Given the description of an element on the screen output the (x, y) to click on. 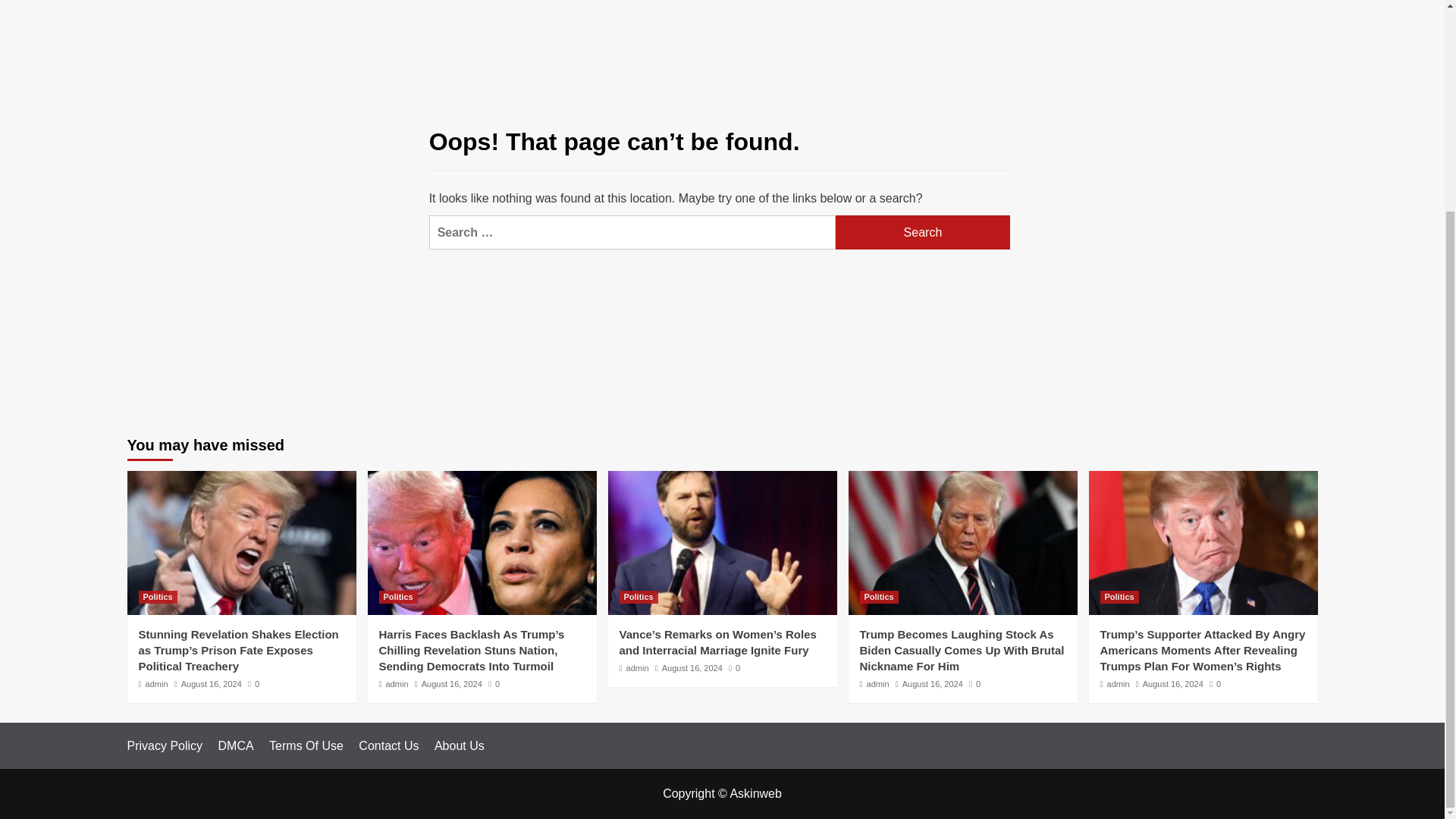
August 16, 2024 (932, 683)
Politics (397, 596)
admin (156, 683)
0 (493, 683)
Politics (1118, 596)
August 16, 2024 (451, 683)
August 16, 2024 (210, 683)
Politics (879, 596)
0 (734, 667)
0 (253, 683)
